Given the description of an element on the screen output the (x, y) to click on. 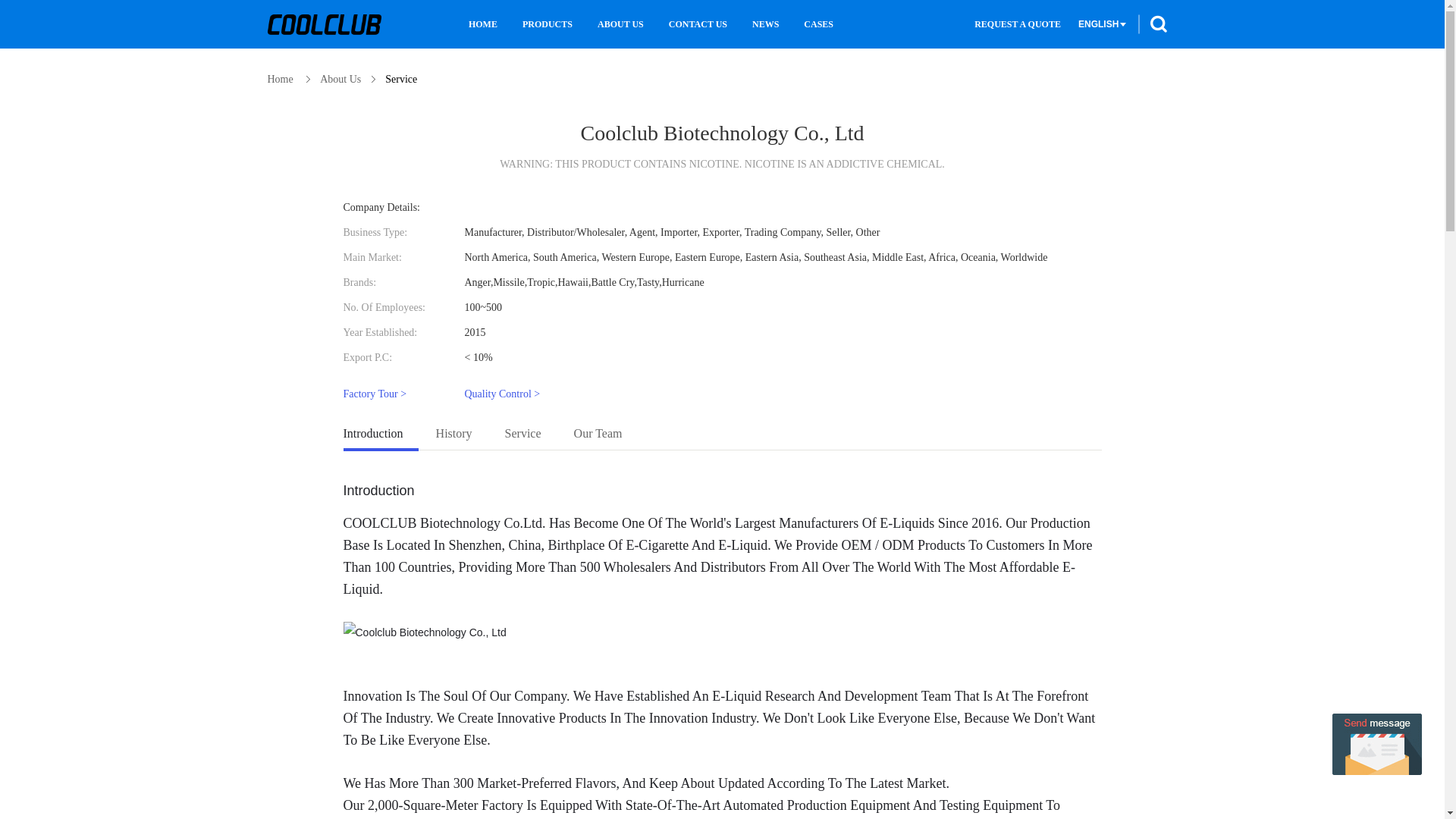
CONTACT US (697, 24)
ABOUT US (620, 24)
REQUEST A QUOTE (1017, 24)
PRODUCTS (547, 24)
